Given the description of an element on the screen output the (x, y) to click on. 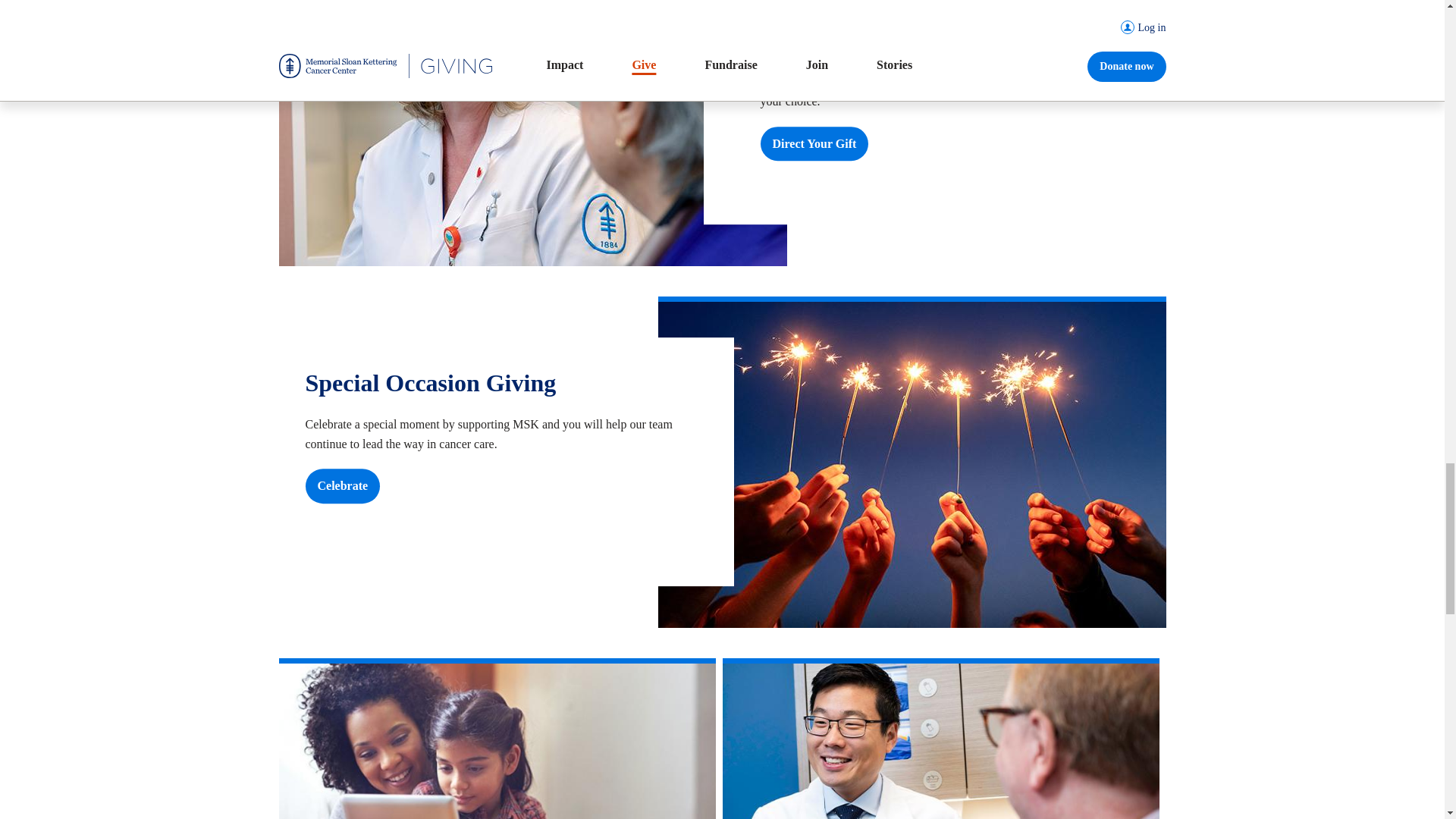
Celebrate (342, 485)
Direct Your Gift (813, 143)
